Given the description of an element on the screen output the (x, y) to click on. 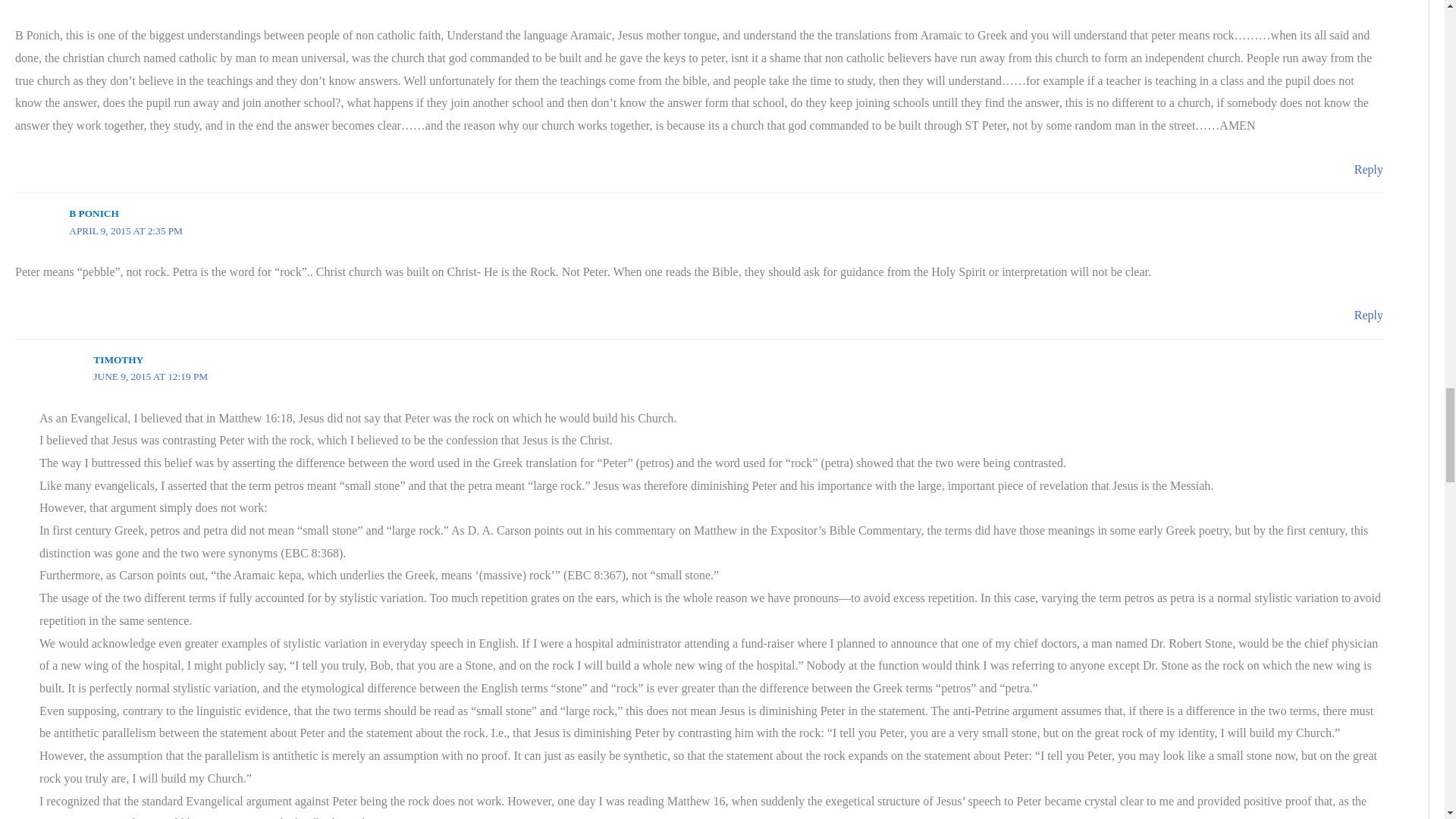
APRIL 9, 2015 AT 2:35 PM (125, 230)
JUNE 9, 2015 AT 12:19 PM (150, 376)
Reply (1368, 314)
Reply (1368, 169)
